Given the description of an element on the screen output the (x, y) to click on. 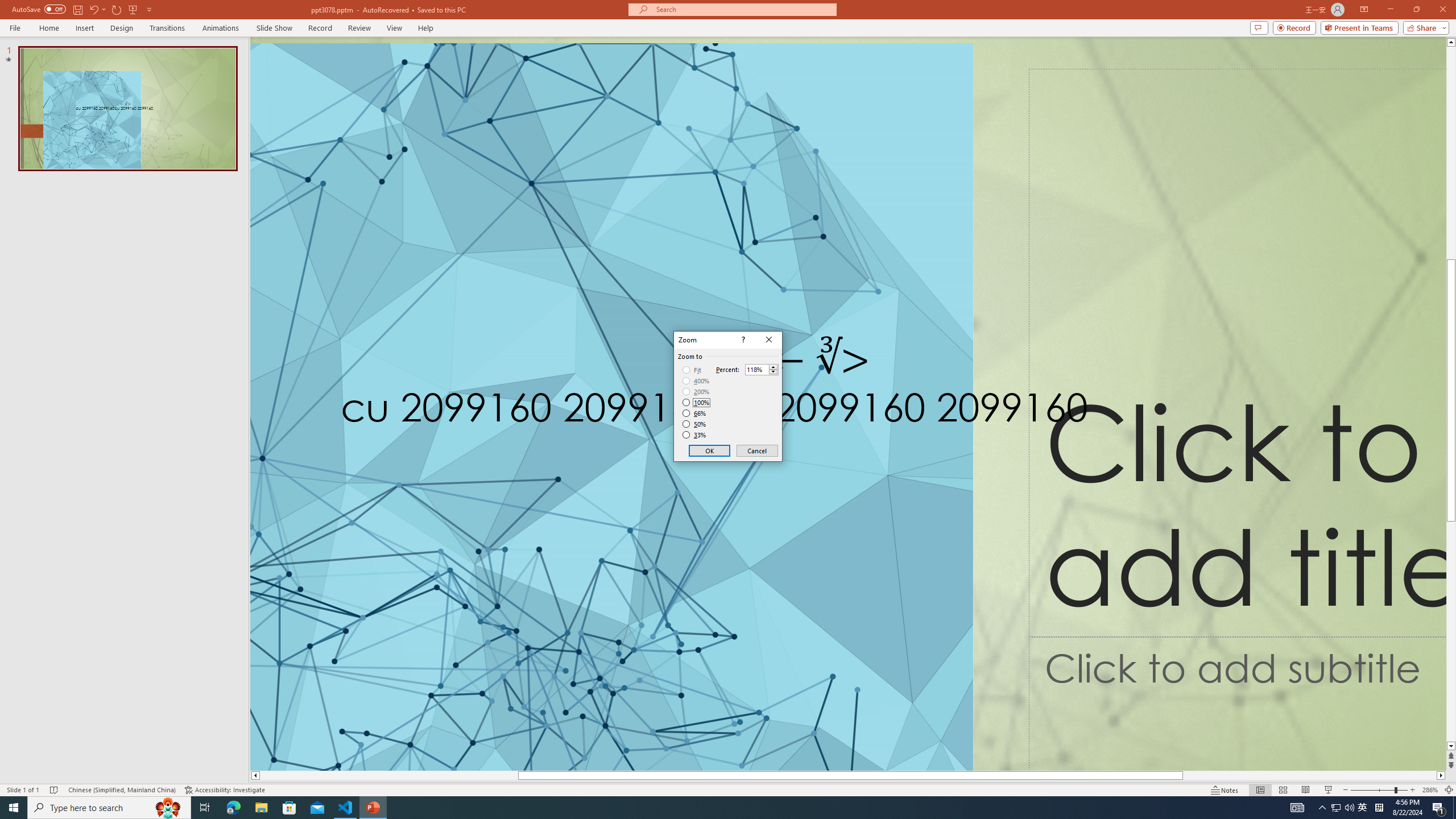
Cancel (756, 450)
Fit (691, 370)
